Given the description of an element on the screen output the (x, y) to click on. 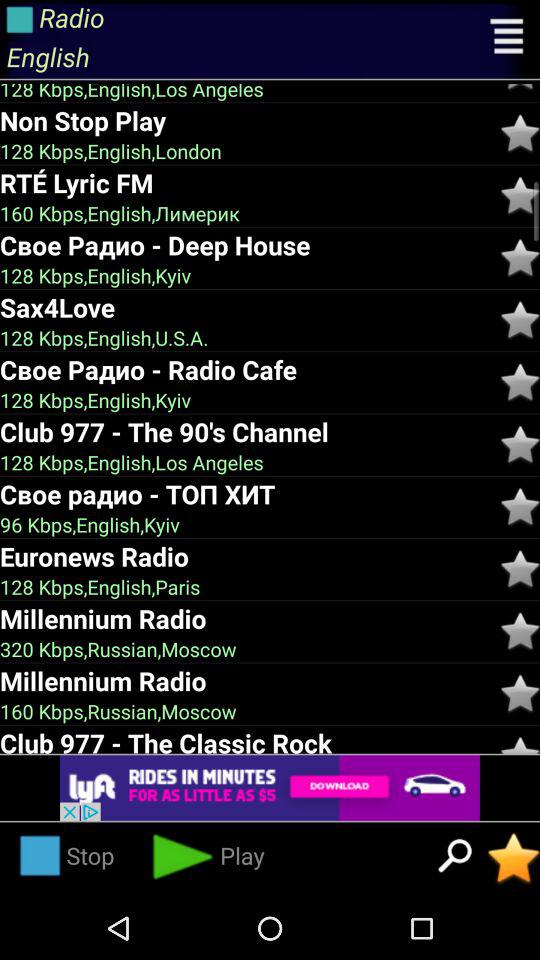
booklist the song (520, 257)
